Given the description of an element on the screen output the (x, y) to click on. 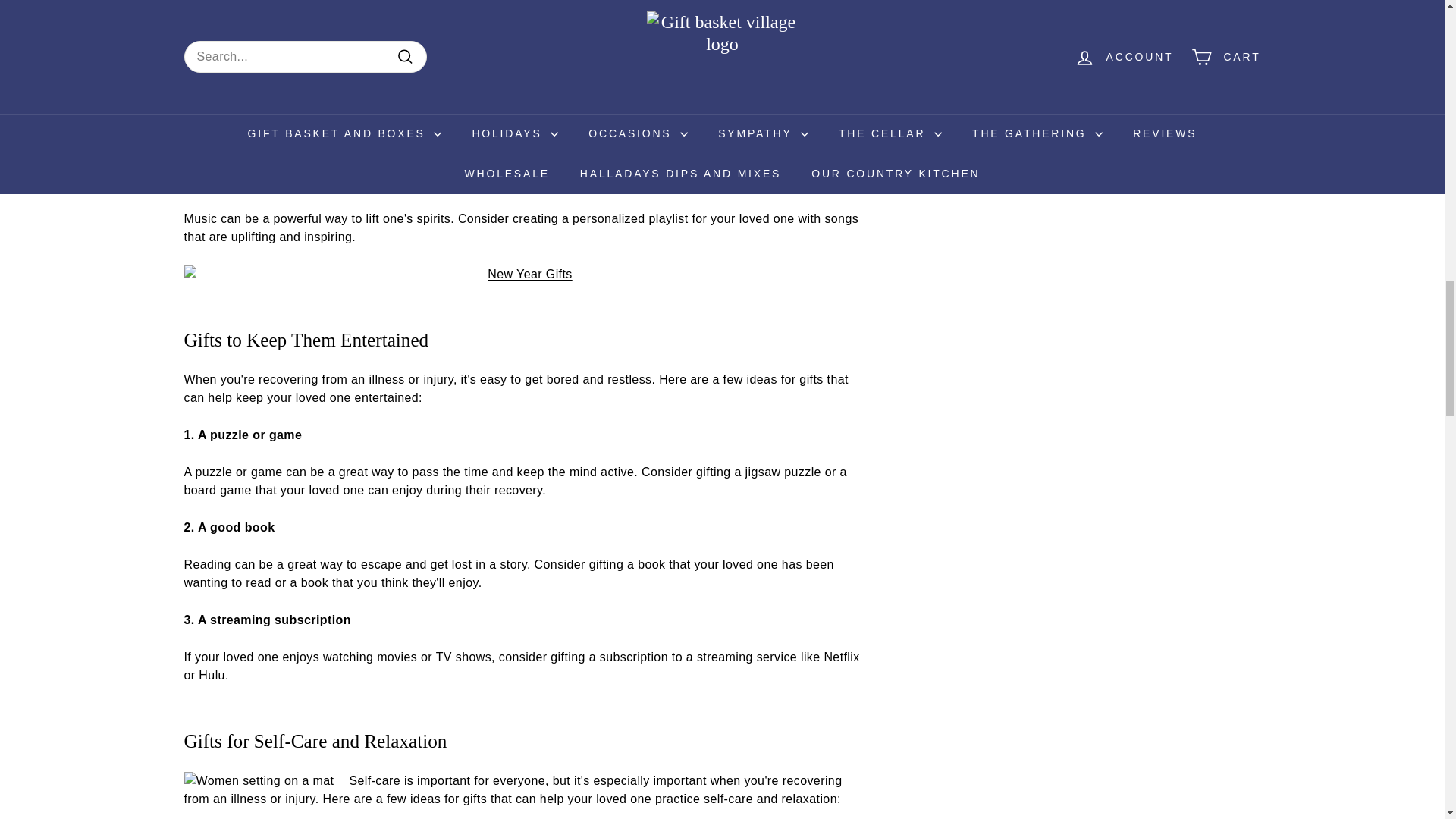
New Year Gift Baskets (523, 274)
